Given the description of an element on the screen output the (x, y) to click on. 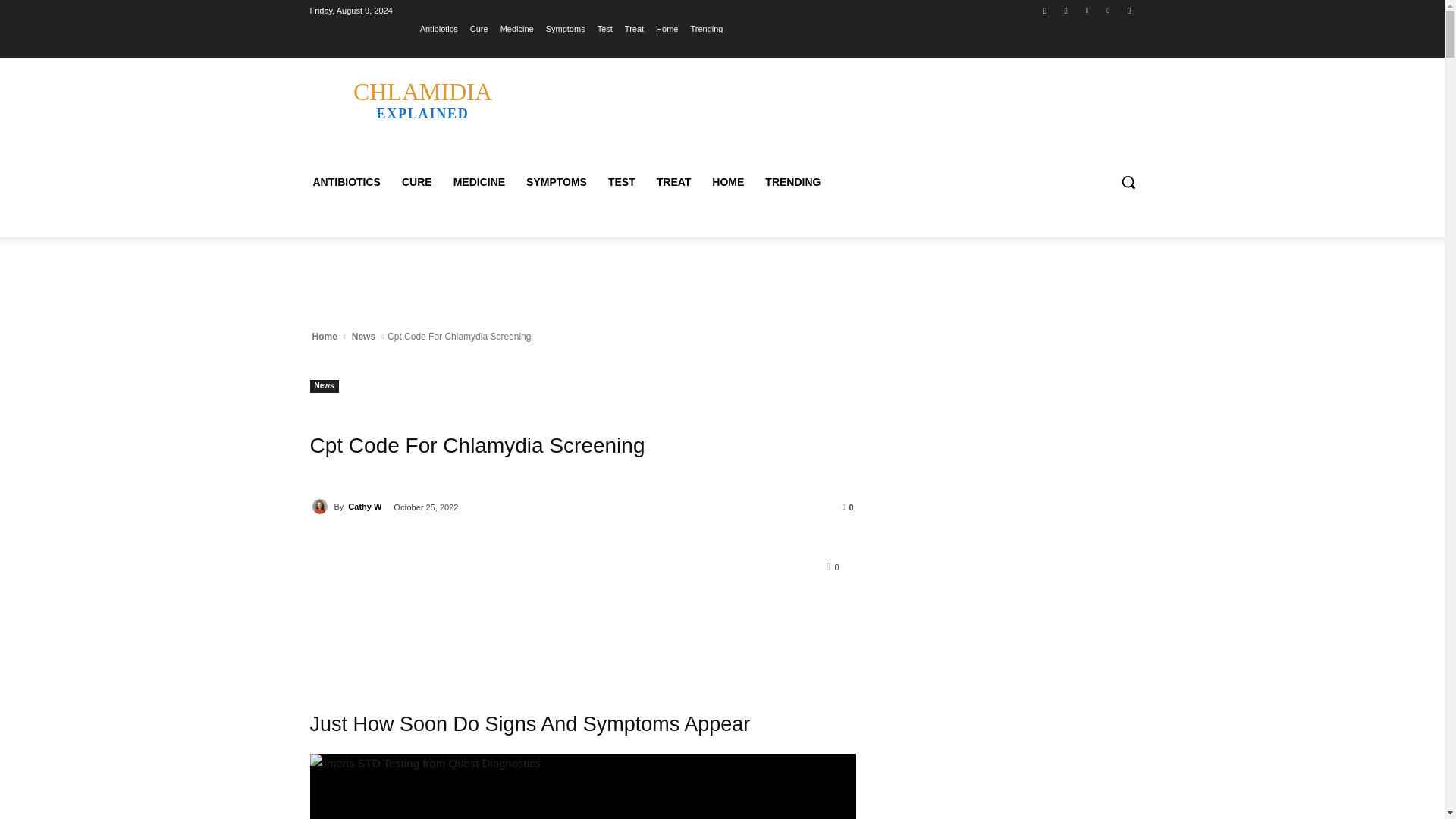
Twitter (1087, 9)
View all posts in News (363, 336)
Facebook (1045, 9)
Symptoms (565, 28)
Cathy W (422, 99)
Medicine (320, 506)
ANTIBIOTICS (517, 28)
CURE (345, 181)
MEDICINE (416, 181)
